Given the description of an element on the screen output the (x, y) to click on. 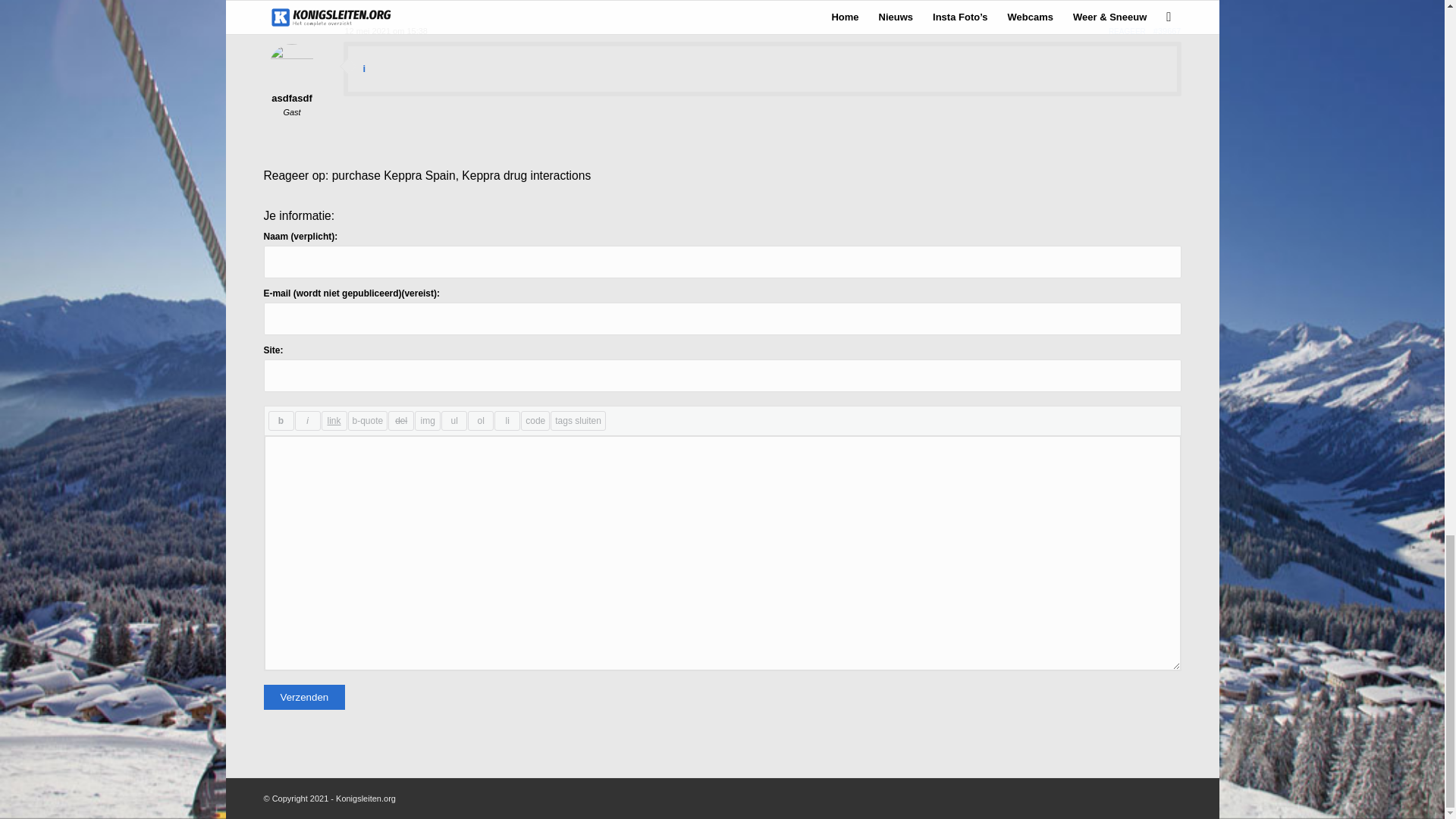
ul (454, 420)
img (427, 420)
code (535, 420)
i (307, 420)
del (400, 420)
li (507, 420)
b-quote (367, 420)
tags sluiten (577, 420)
ol (480, 420)
Alle open tags sluiten (577, 420)
